Given the description of an element on the screen output the (x, y) to click on. 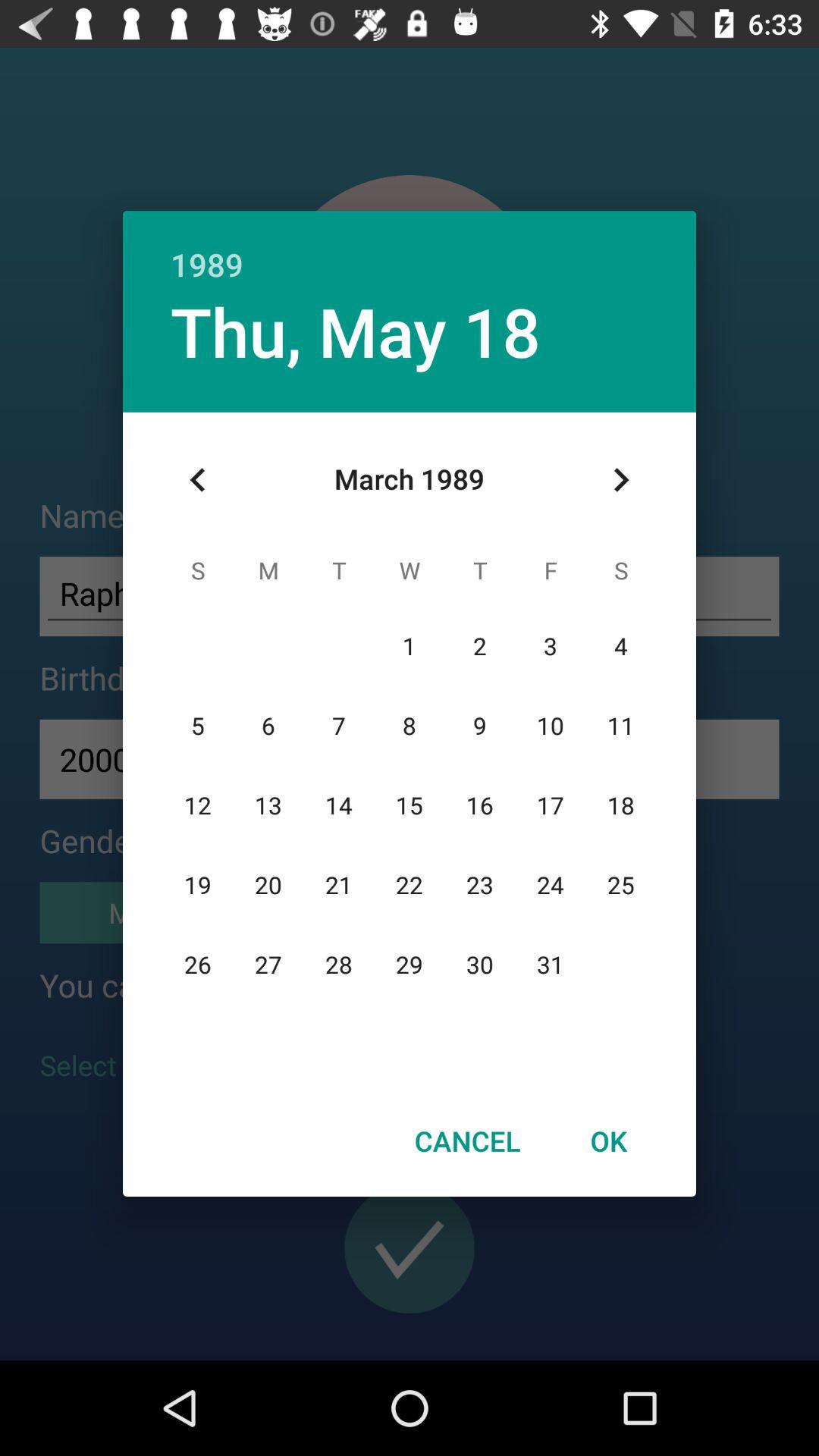
open item above thu, may 18 icon (409, 248)
